Given the description of an element on the screen output the (x, y) to click on. 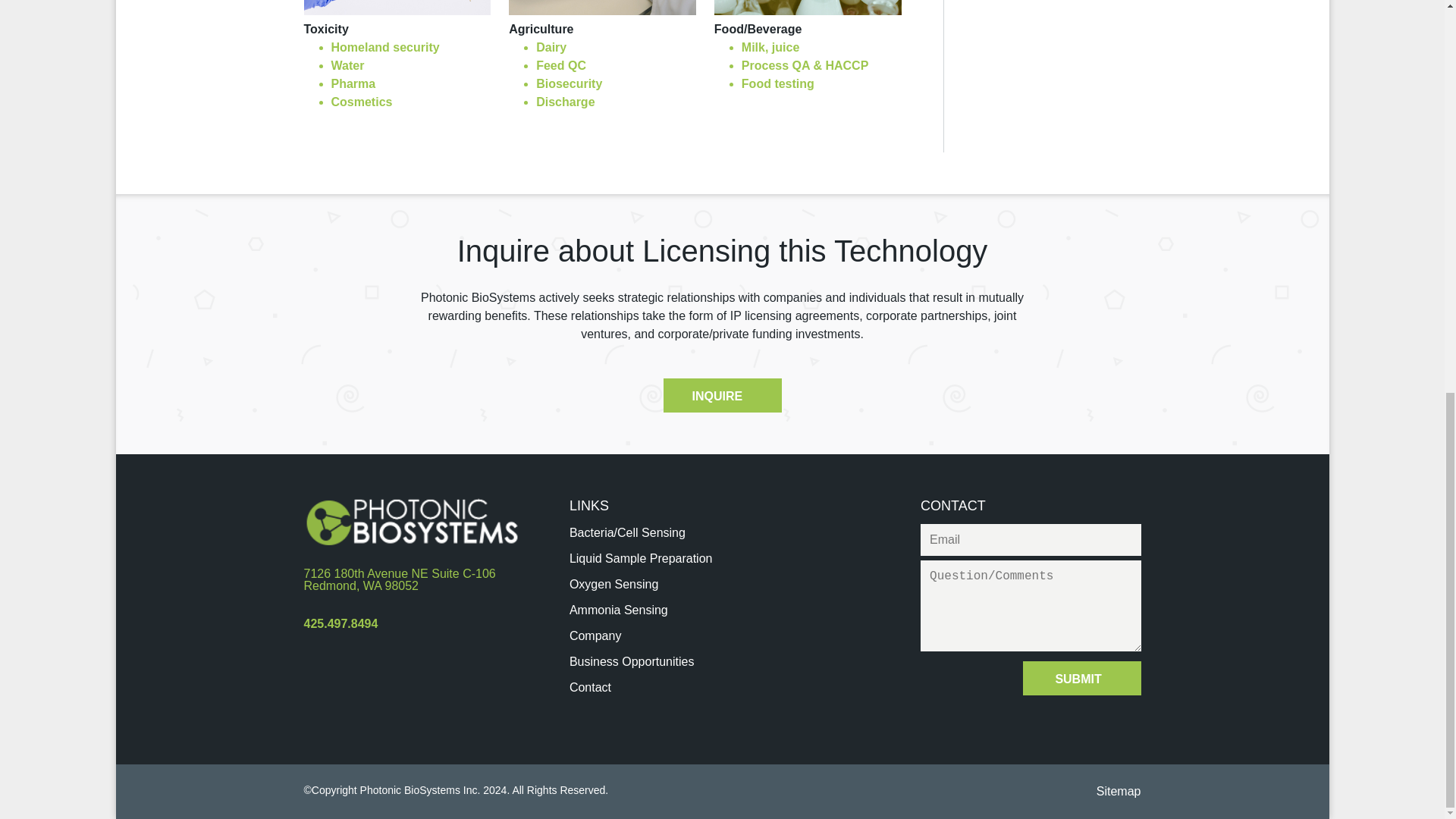
INQUIRE    (412, 580)
Liquid Sample Preparation (721, 395)
Photonic Biosystems (641, 558)
Ammonia Sensing (410, 520)
Business Opportunities (618, 609)
Company (631, 661)
Oxygen Sensing (595, 635)
425.497.8494 (613, 584)
Contact (339, 623)
